Given the description of an element on the screen output the (x, y) to click on. 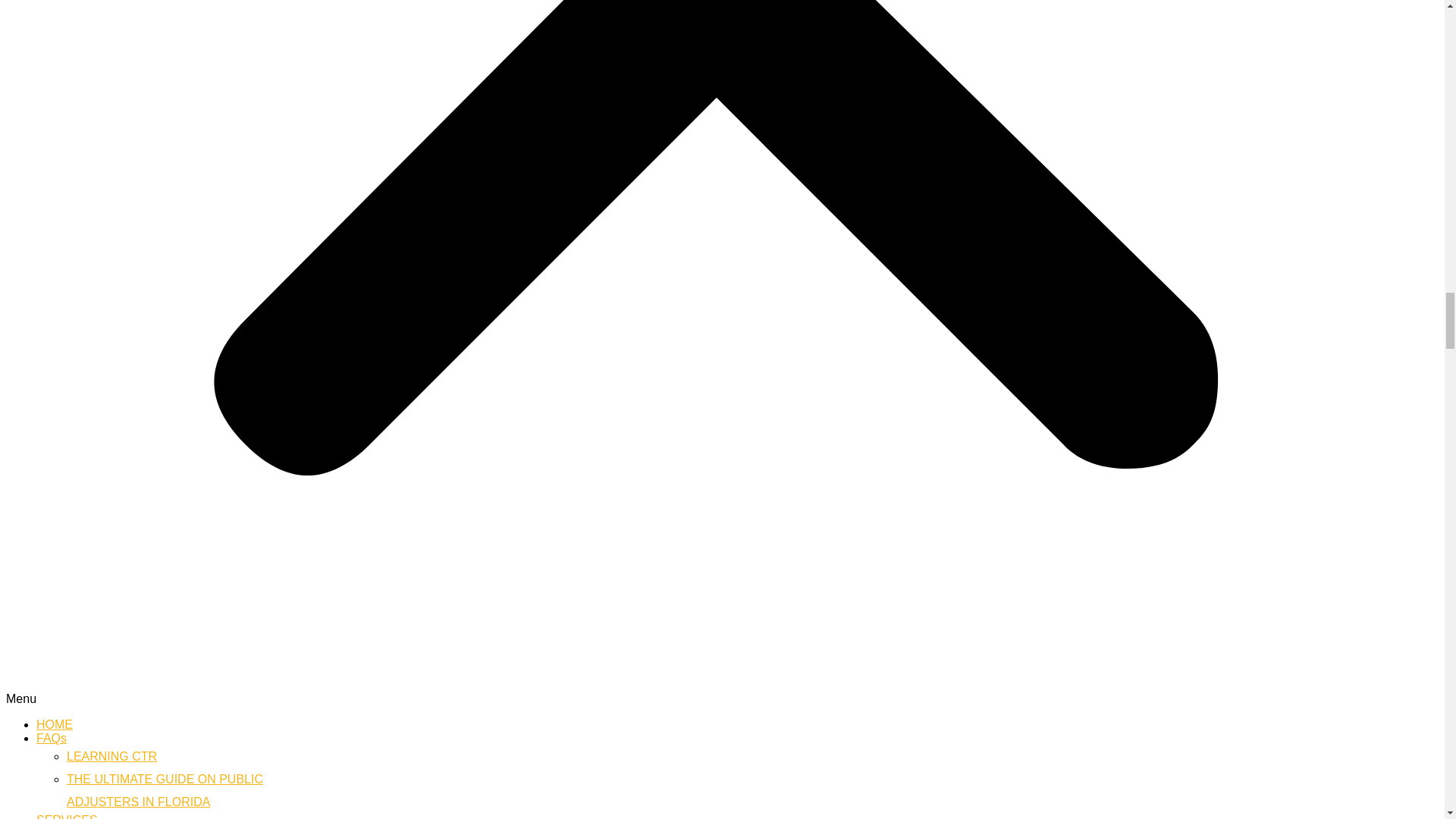
SERVICES (66, 816)
HOME (164, 790)
FAQs (54, 724)
LEARNING CTR (51, 738)
